Given the description of an element on the screen output the (x, y) to click on. 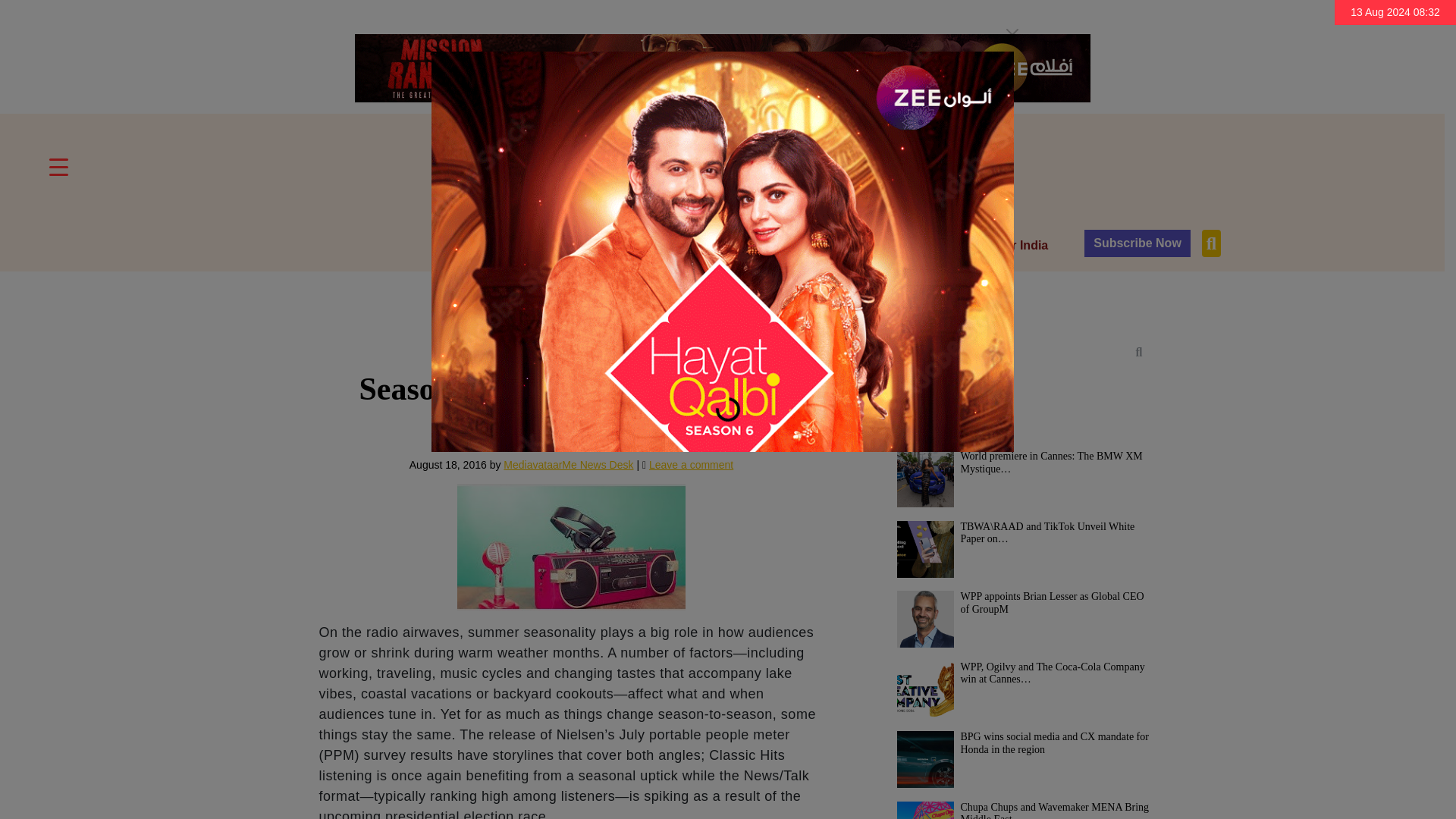
Home (463, 245)
News (527, 245)
Subscribe Now (1137, 243)
BPG wins social media and CX mandate for Honda in the region (924, 759)
Media-Avataar India (991, 245)
WPP appoints Brian Lesser as Global CEO of GroupM (924, 618)
Meet The Leader (623, 245)
